Given the description of an element on the screen output the (x, y) to click on. 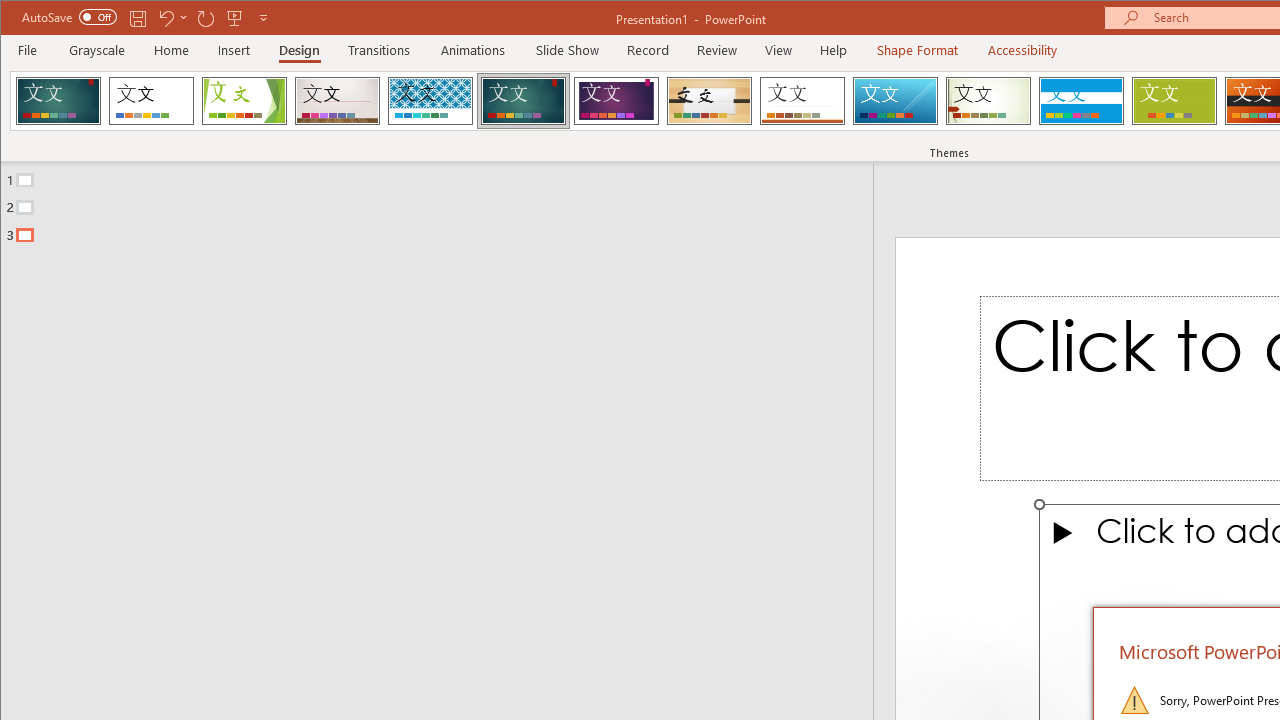
Retrospect (802, 100)
Integral (430, 100)
Ion (523, 100)
Grayscale (97, 50)
Banded (1081, 100)
Outline (445, 203)
Ion Boardroom (616, 100)
Shape Format (916, 50)
